Given the description of an element on the screen output the (x, y) to click on. 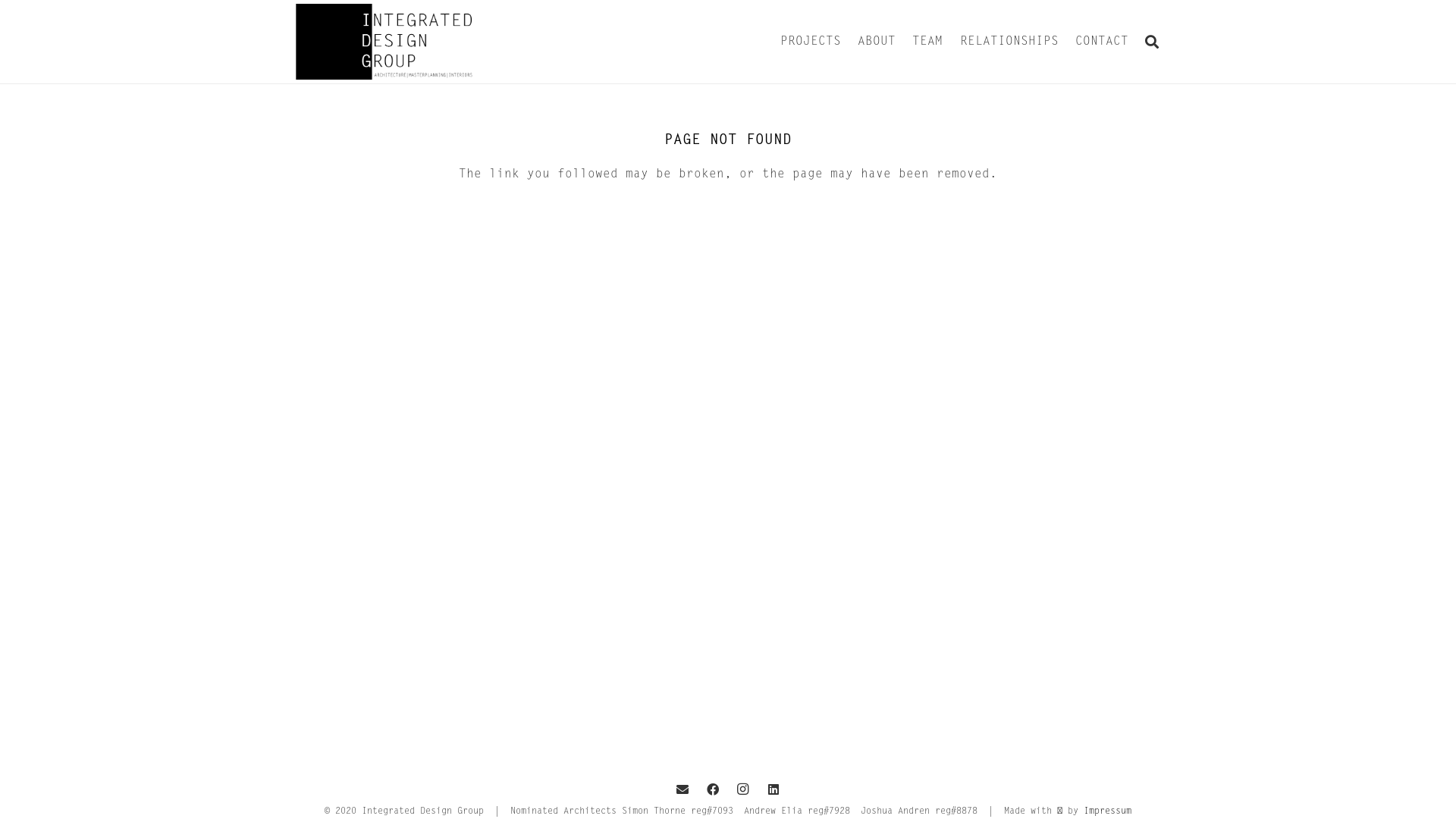
CONTACT Element type: text (1101, 41)
ABOUT Element type: text (876, 41)
TEAM Element type: text (926, 41)
Impressum Element type: text (1107, 810)
RELATIONSHIPS Element type: text (1008, 41)
PROJECTS Element type: text (810, 41)
Instagram Element type: hover (743, 789)
LinkedIn Element type: hover (773, 789)
Facebook Element type: hover (712, 789)
Email Element type: hover (682, 789)
